Given the description of an element on the screen output the (x, y) to click on. 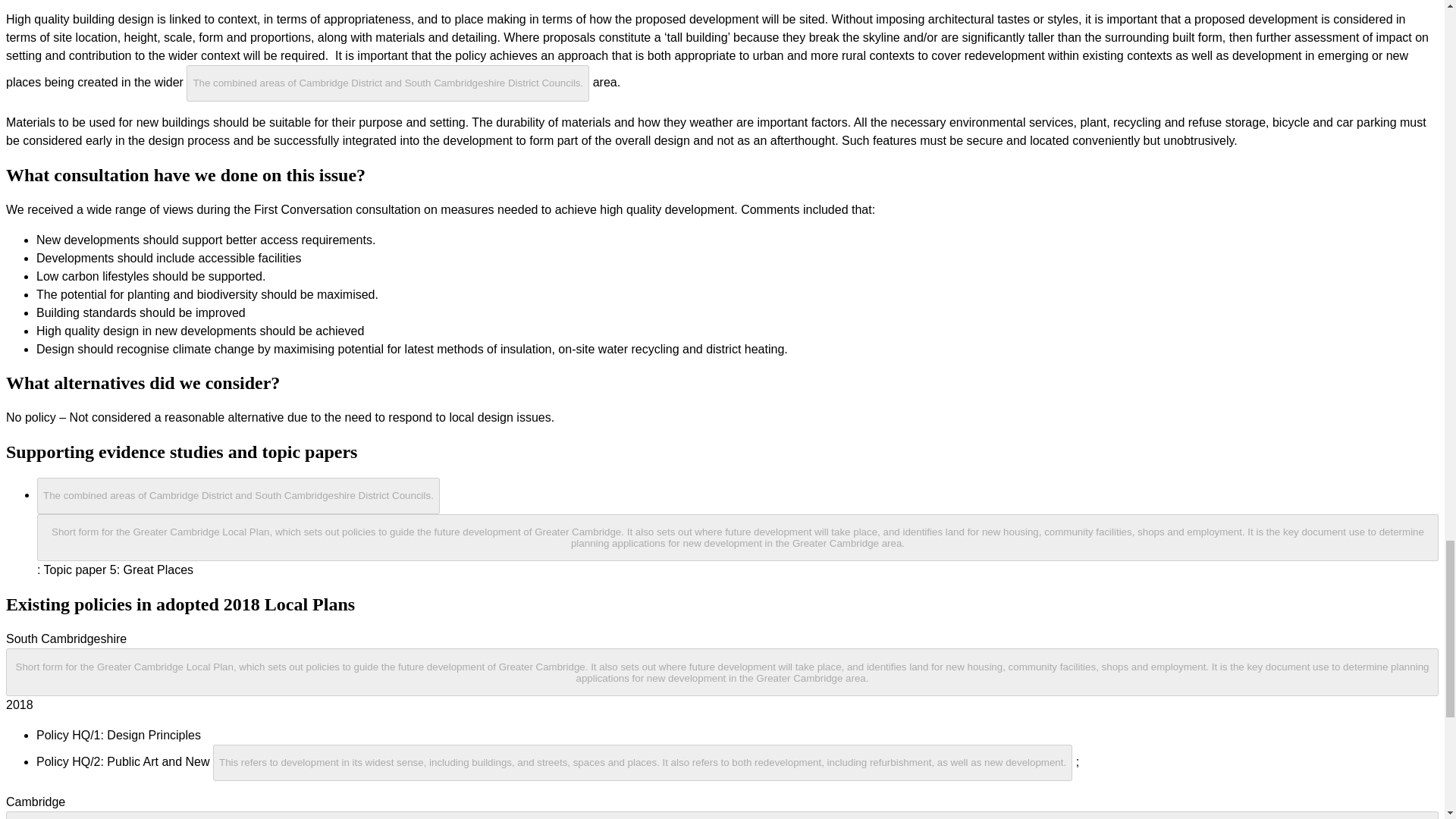
Greater Cambridge (389, 82)
Development (643, 761)
Greater Cambridge (238, 494)
